Given the description of an element on the screen output the (x, y) to click on. 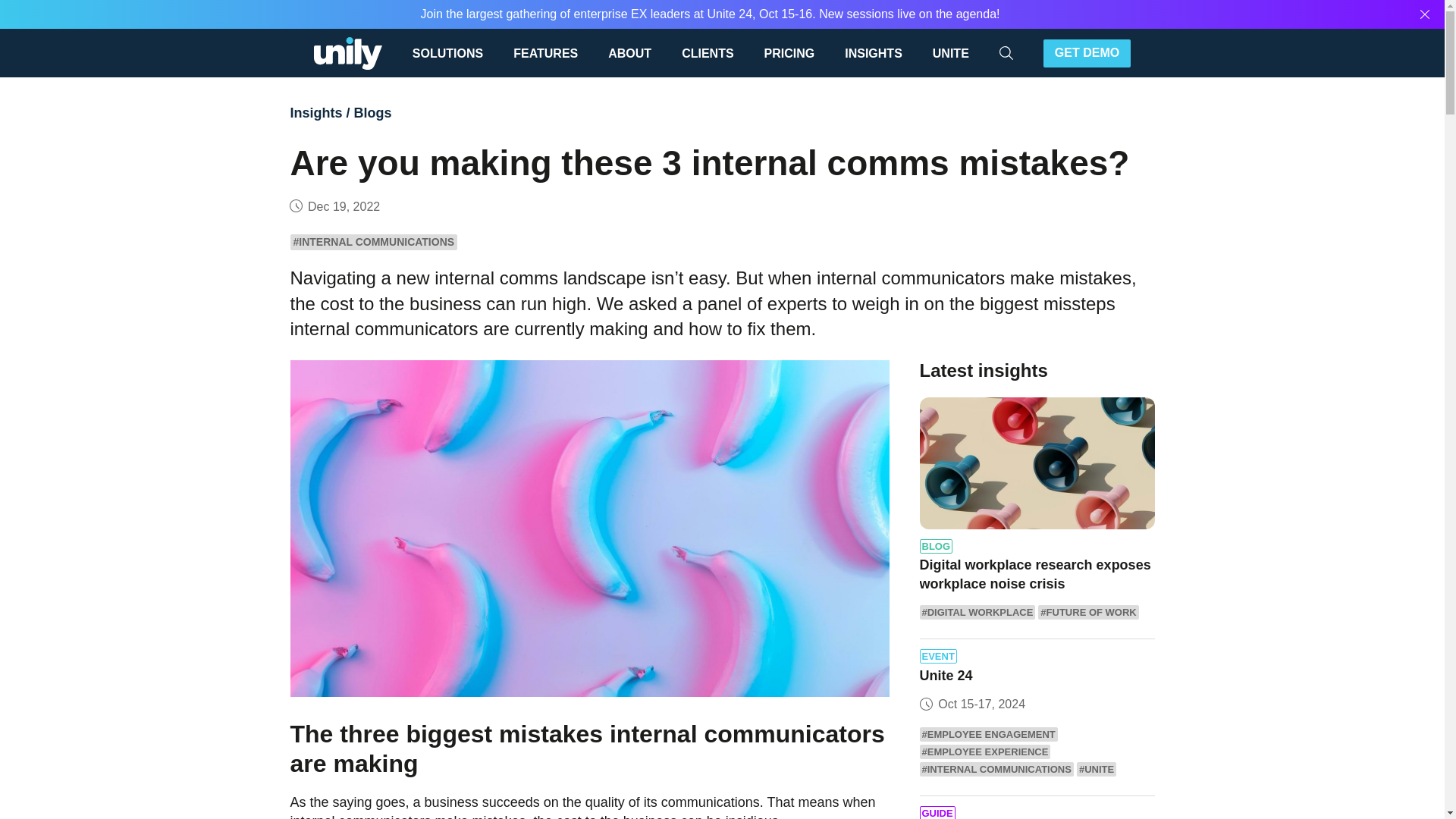
Close (1425, 13)
Search (1055, 52)
SOLUTIONS (454, 52)
